Given the description of an element on the screen output the (x, y) to click on. 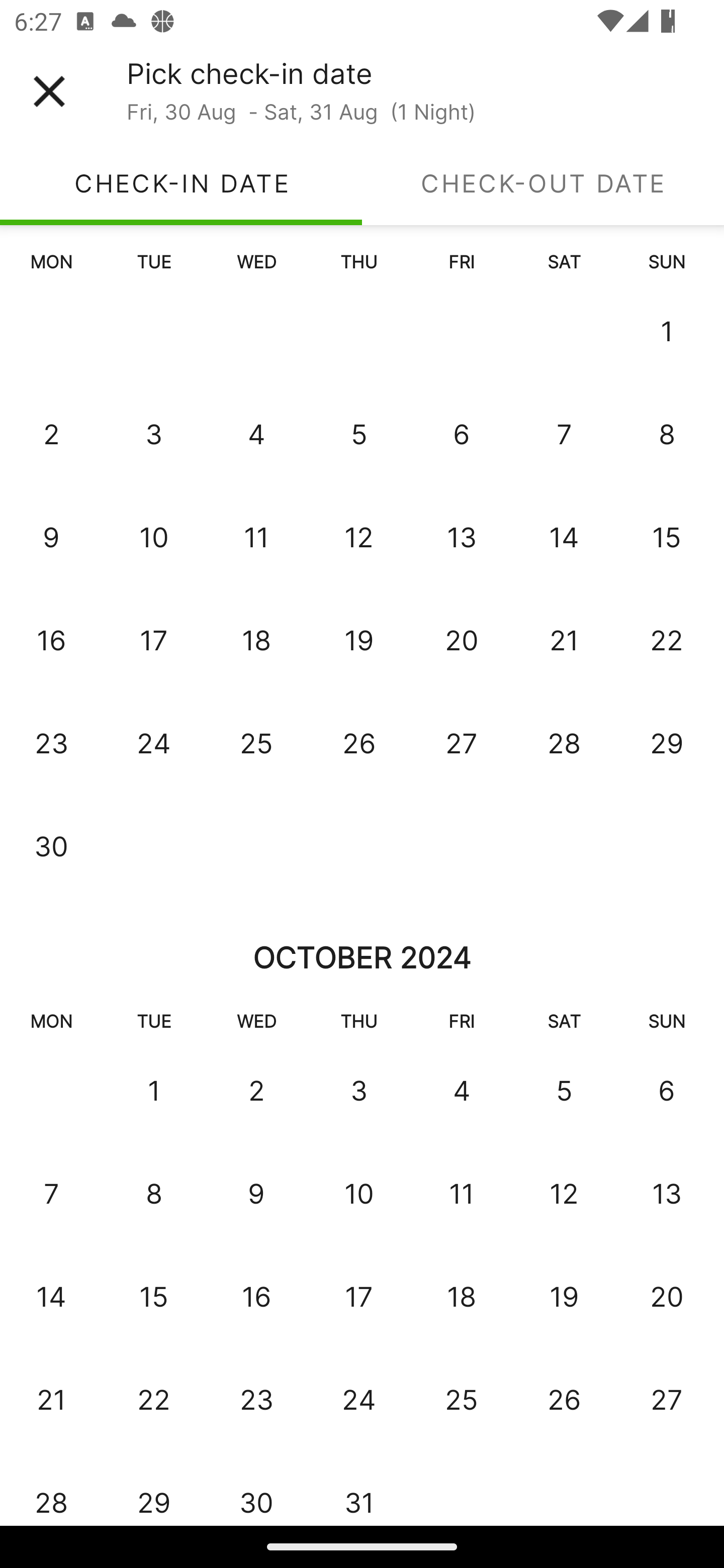
Check-out Date CHECK-OUT DATE (543, 183)
